Given the description of an element on the screen output the (x, y) to click on. 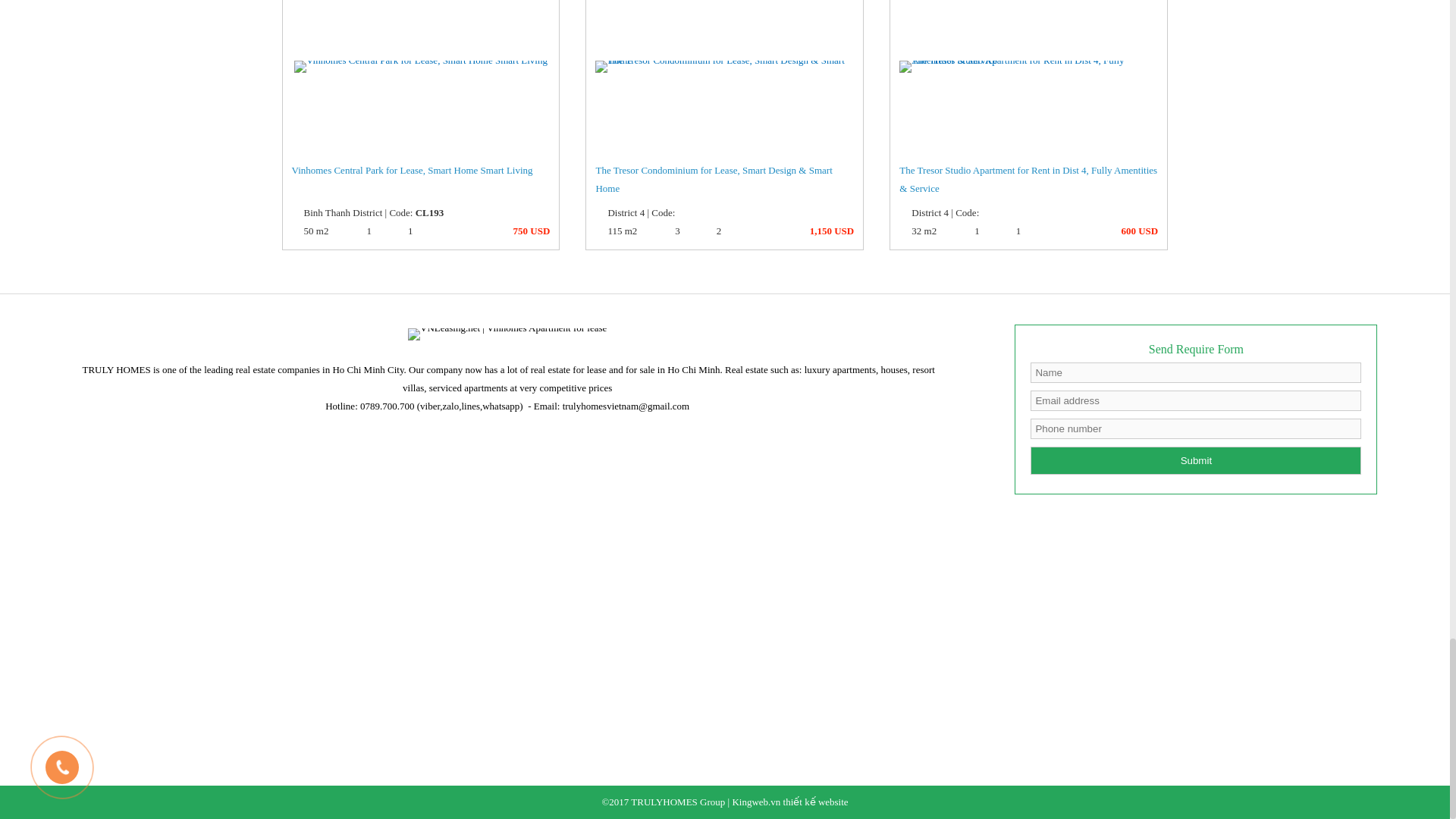
Submit (1195, 460)
Vinhomes Central Park for Lease, Smart Home Smart Living (421, 182)
